Given the description of an element on the screen output the (x, y) to click on. 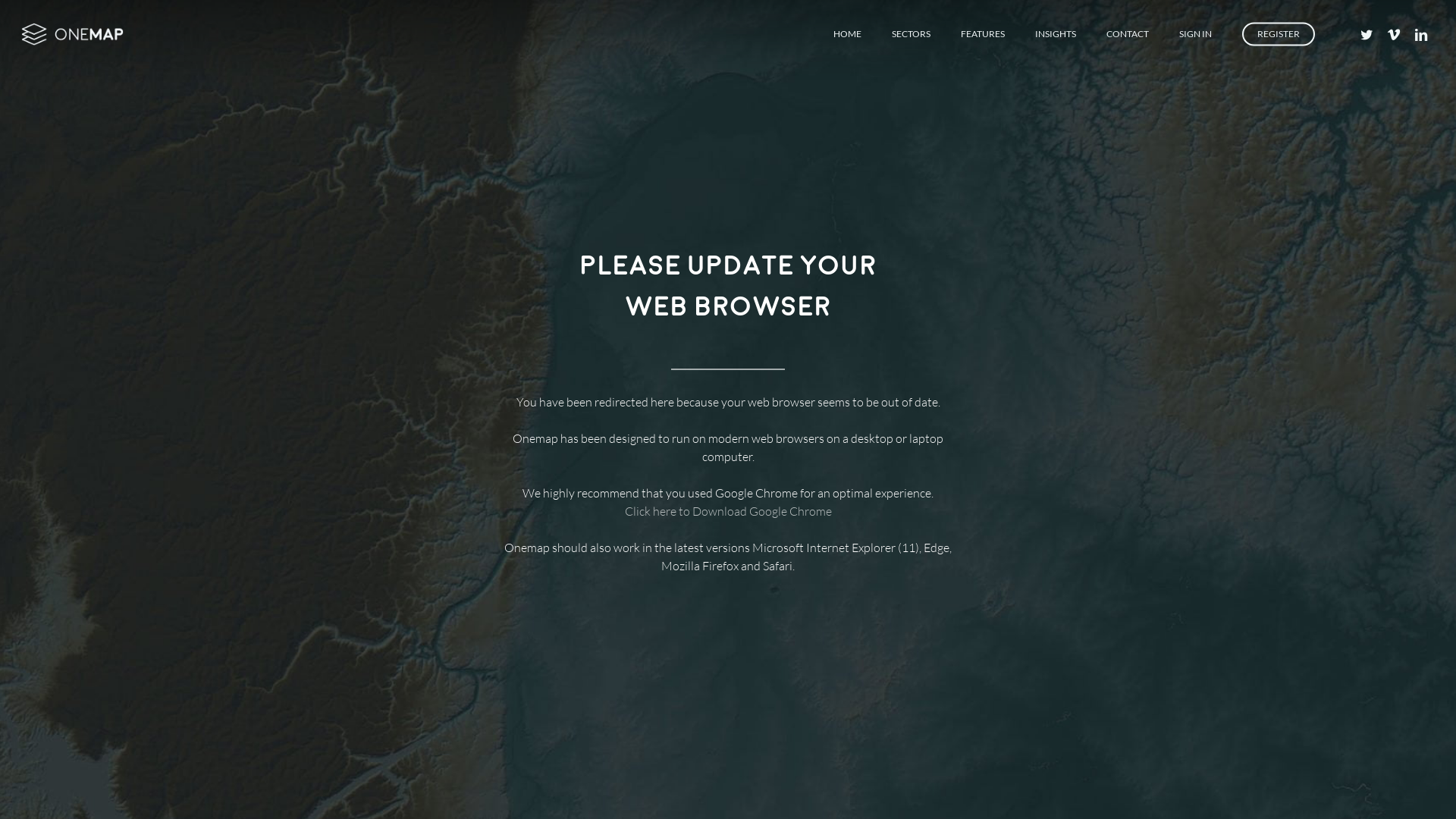
HOME Element type: text (847, 33)
SECTORS Element type: text (910, 33)
REGISTER Element type: text (1278, 33)
Linkedin Element type: text (1420, 34)
INSIGHTS Element type: text (1055, 33)
SIGN IN Element type: text (1195, 33)
Twitter Element type: text (1366, 34)
CONTACT Element type: text (1127, 33)
FEATURES Element type: text (982, 33)
Vimeo Element type: text (1393, 34)
Click here to Download Google Chrome Element type: text (727, 510)
